Given the description of an element on the screen output the (x, y) to click on. 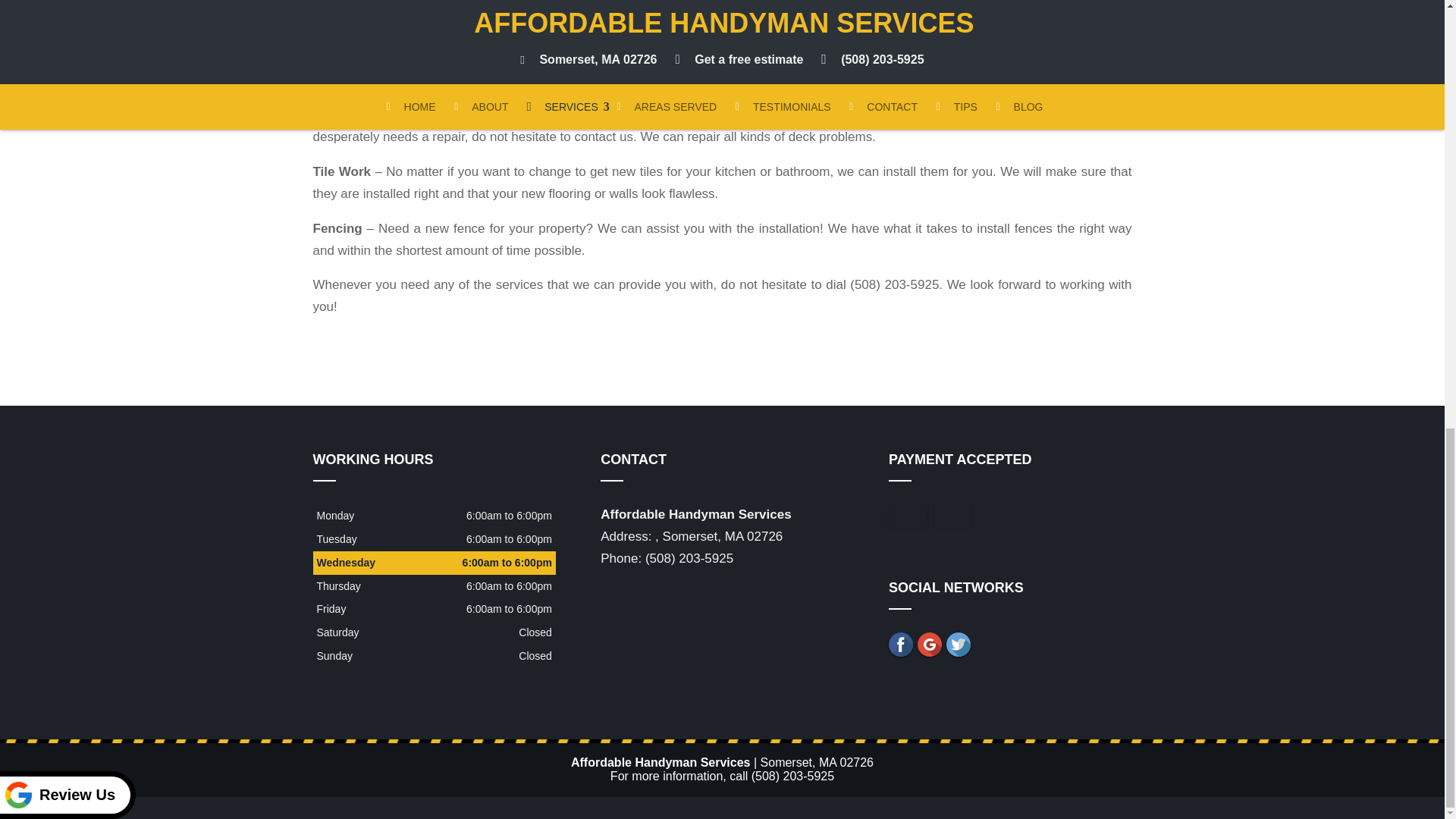
cash payment accepted (907, 516)
Check company profile on google (929, 644)
Check company profile on facebook (900, 644)
check payment accepted (952, 516)
google (929, 644)
facebook (900, 644)
Check company profile on twitter (958, 644)
Reliable Kitchen Remodeling (721, 45)
twitter (958, 644)
